Given the description of an element on the screen output the (x, y) to click on. 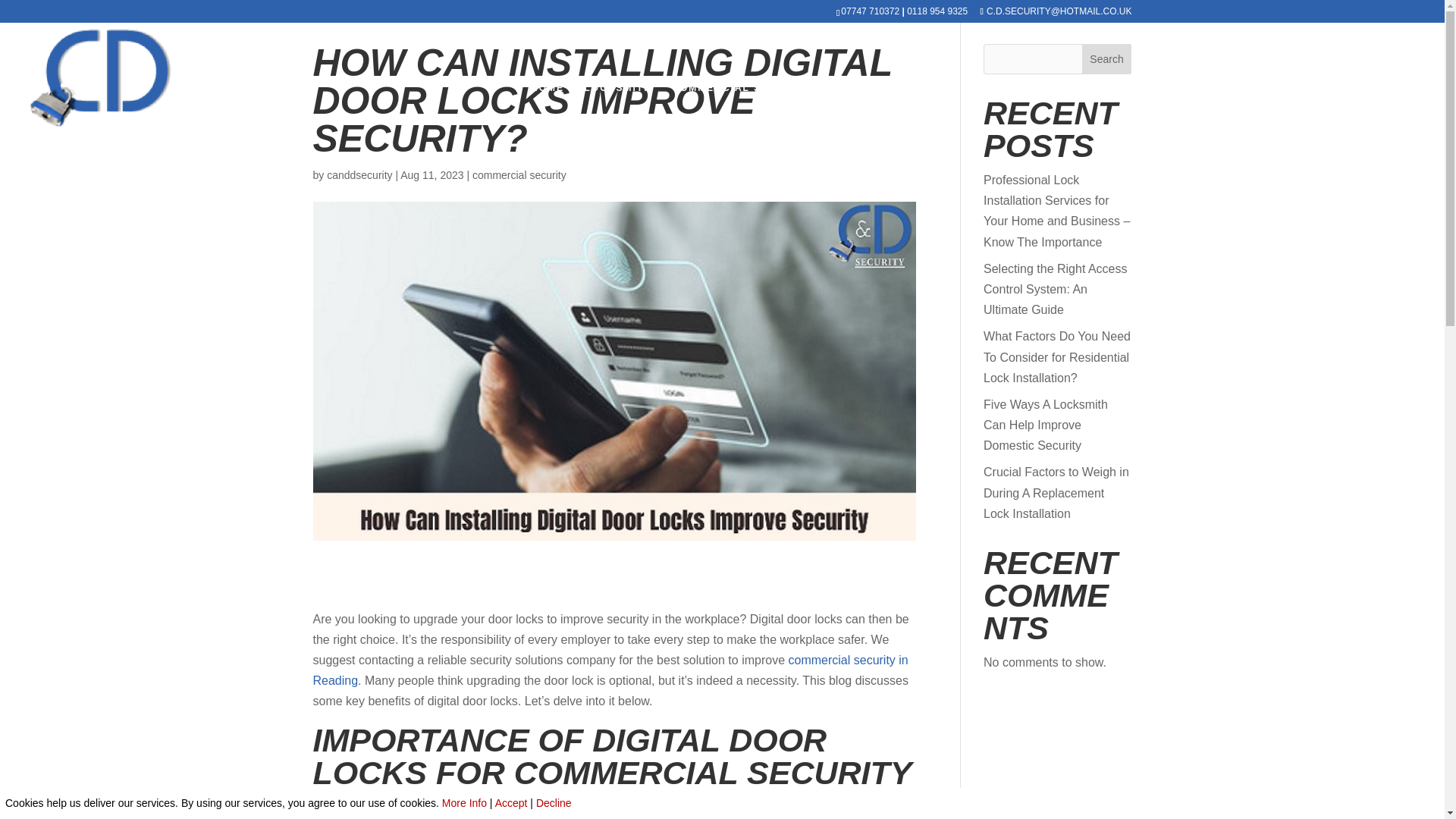
DOMESTIC SECURITY (892, 117)
commercial security (518, 174)
canddsecurity (358, 174)
CONTACT US (1383, 117)
Selecting the Right Access Control System: An Ultimate Guide (1055, 289)
Accept (511, 802)
COMMERCIAL SECURITY (740, 117)
Posts by canddsecurity (358, 174)
